Given the description of an element on the screen output the (x, y) to click on. 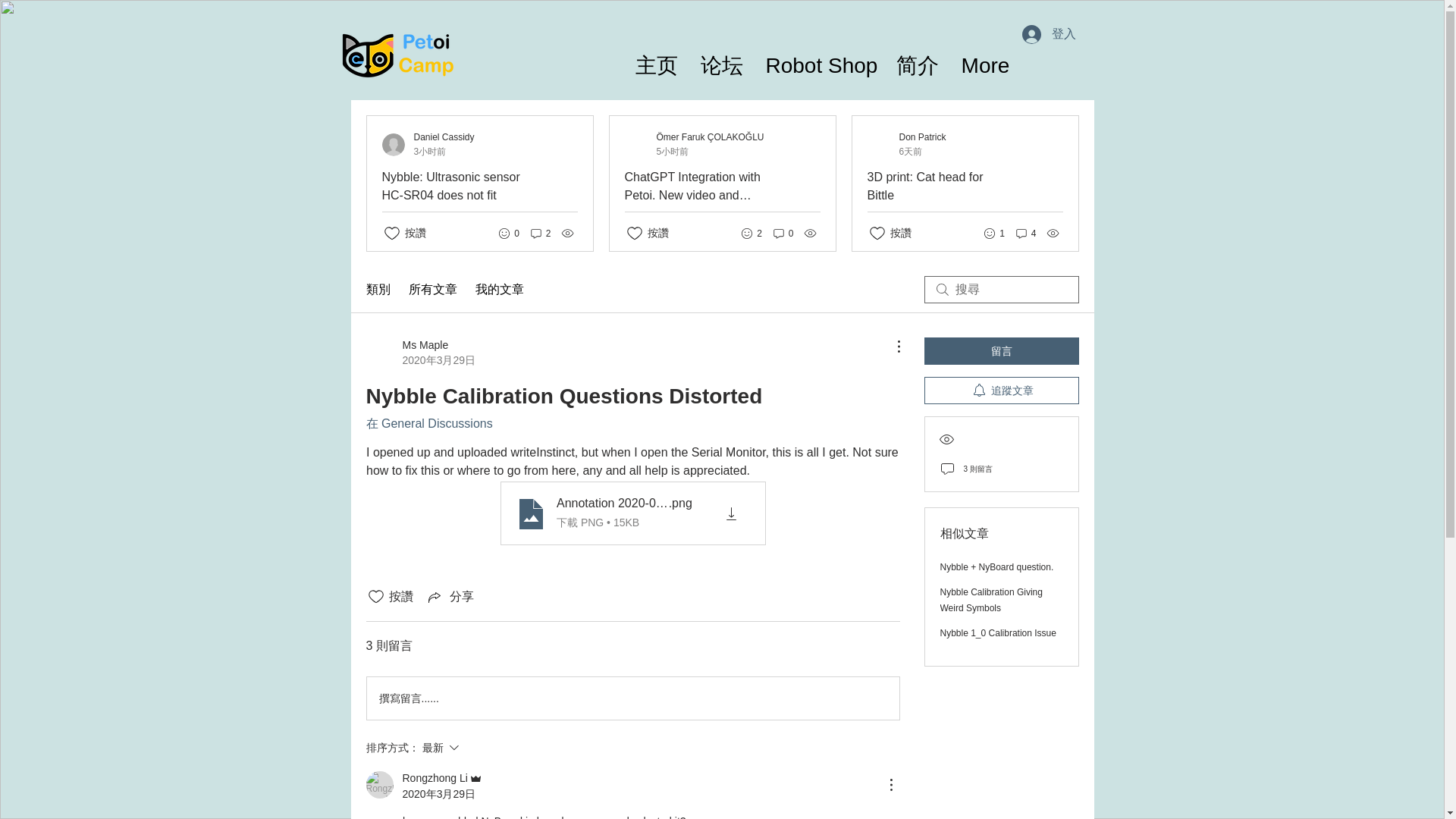
Robot Shop (818, 60)
Rongzhong Li (442, 778)
Nybble: Ultrasonic sensor HC-SR04 does not fit (453, 186)
Rongzhong Li (379, 784)
ChatGPT Integration with Petoi. New video and github link (697, 186)
3D print: Cat head for Bittle (938, 186)
